Given the description of an element on the screen output the (x, y) to click on. 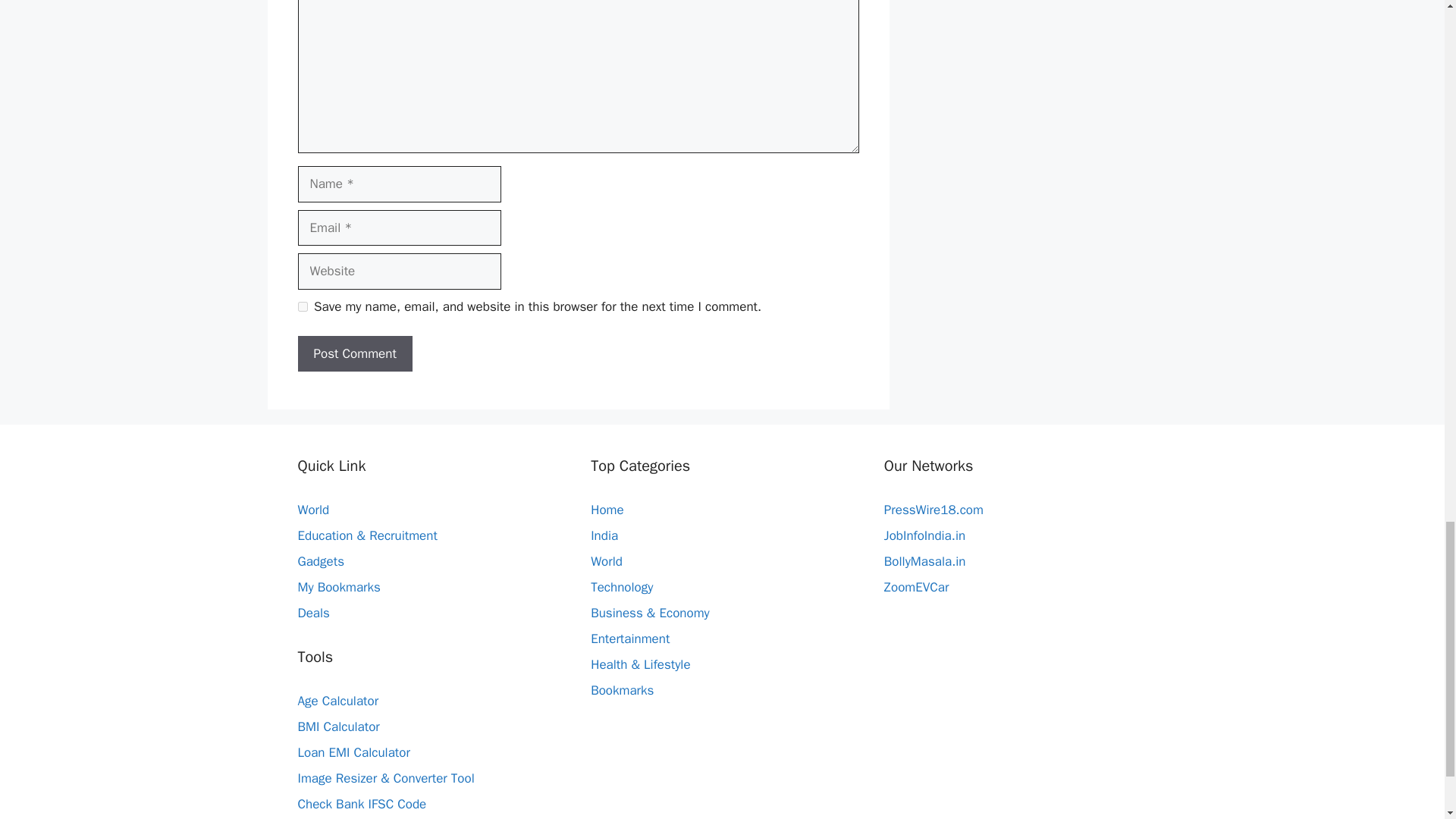
World (313, 509)
Post Comment (354, 353)
Check Bank IFSC Code (361, 804)
BMI Calculator (337, 726)
Home (607, 509)
yes (302, 307)
Age Calculator (337, 700)
My Bookmarks (338, 587)
Loan EMI Calculator (353, 752)
Post Comment (354, 353)
